Given the description of an element on the screen output the (x, y) to click on. 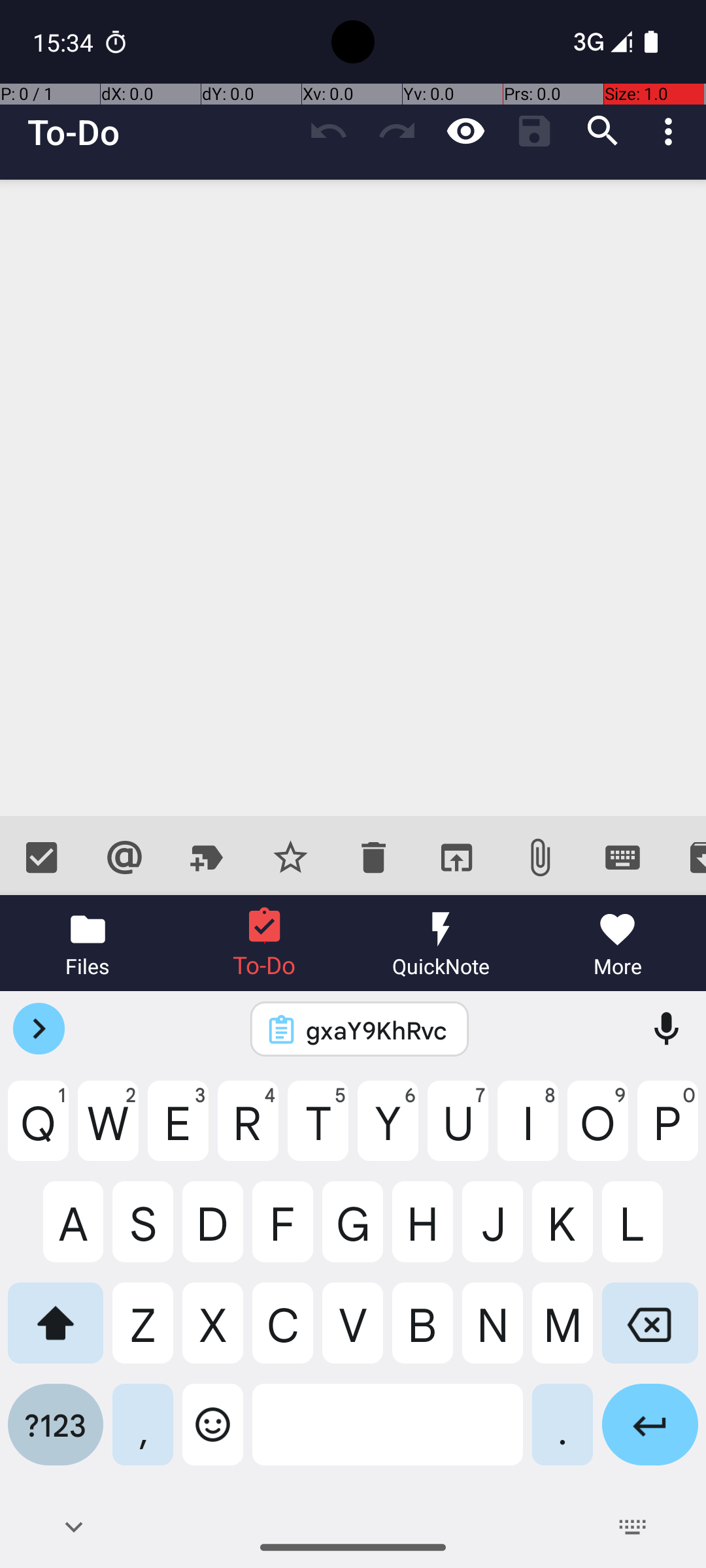
gxaY9KhRvc Element type: android.widget.TextView (376, 1029)
